Given the description of an element on the screen output the (x, y) to click on. 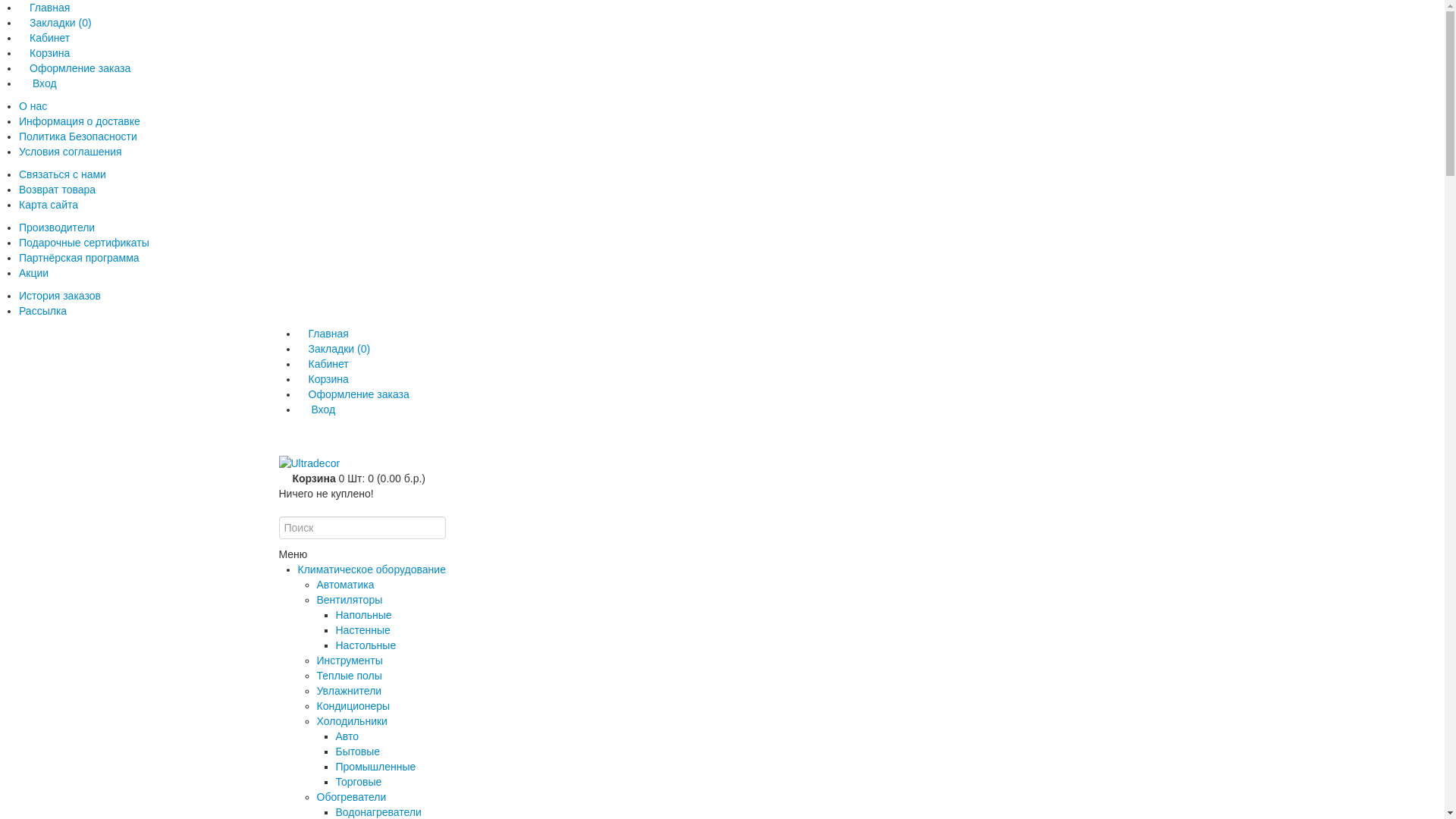
Ultradecor Element type: hover (309, 462)
